Given the description of an element on the screen output the (x, y) to click on. 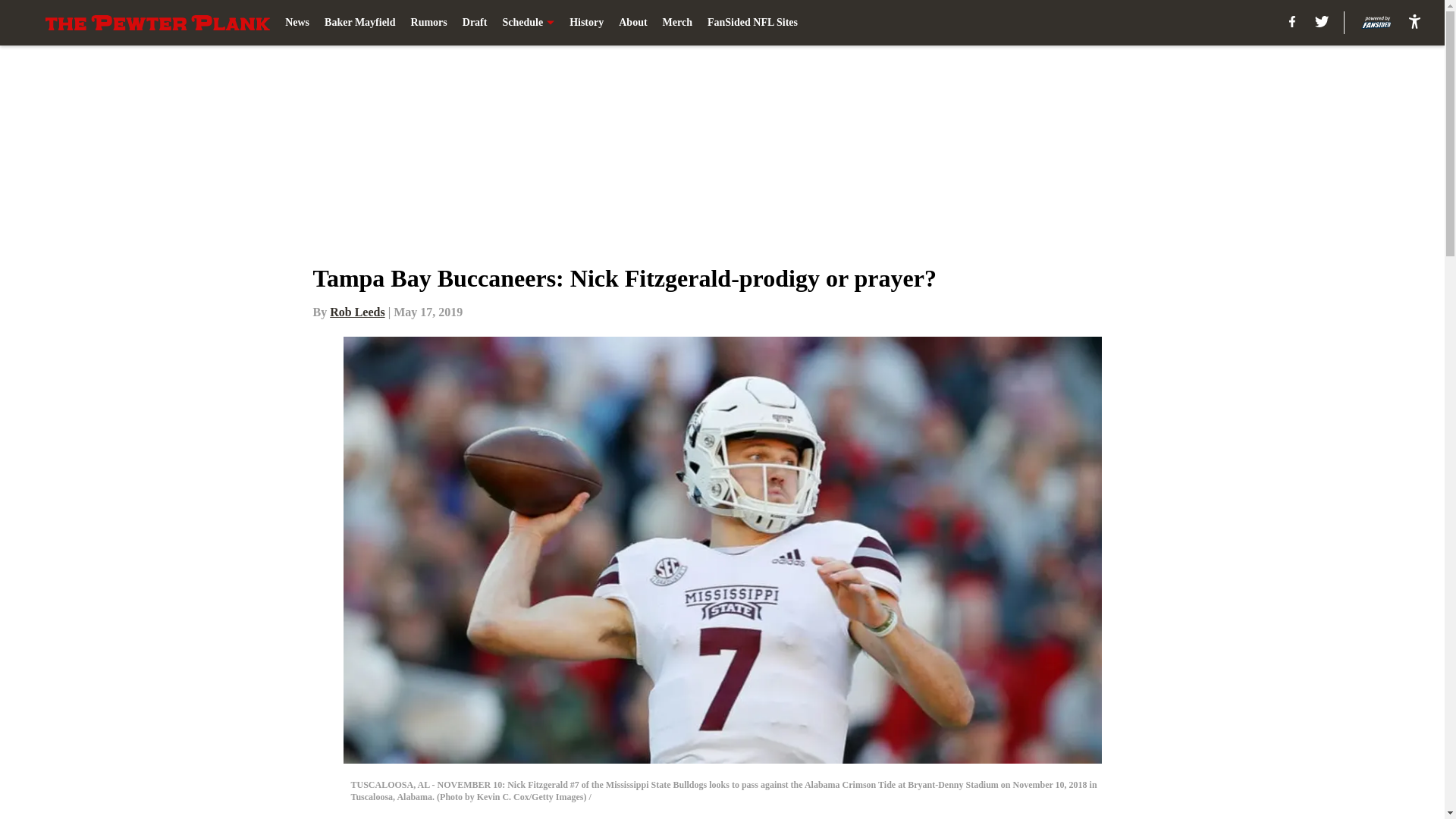
FanSided NFL Sites (752, 22)
Rumors (428, 22)
News (296, 22)
Draft (475, 22)
History (586, 22)
Baker Mayfield (359, 22)
Rob Leeds (357, 311)
About (632, 22)
Merch (677, 22)
